Given the description of an element on the screen output the (x, y) to click on. 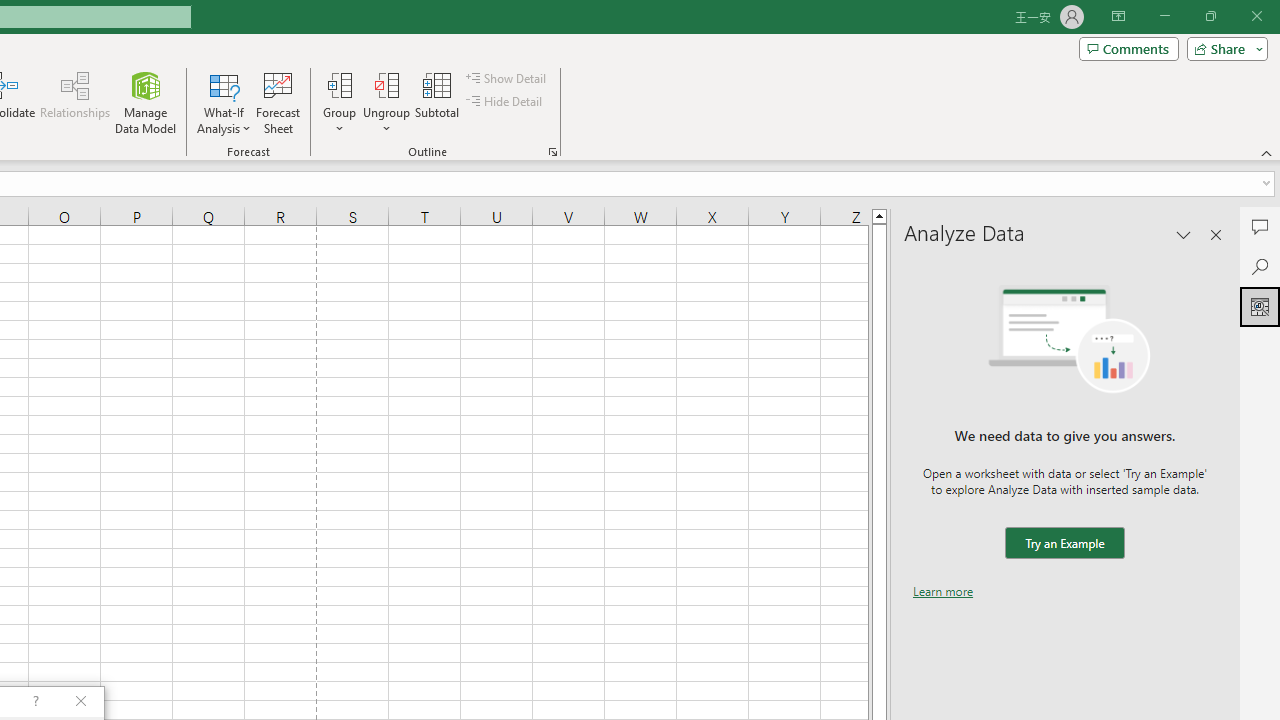
Group and Outline Settings (552, 151)
Show Detail (507, 78)
Relationships (75, 102)
Hide Detail (505, 101)
Learn more (943, 591)
Forecast Sheet (278, 102)
